Given the description of an element on the screen output the (x, y) to click on. 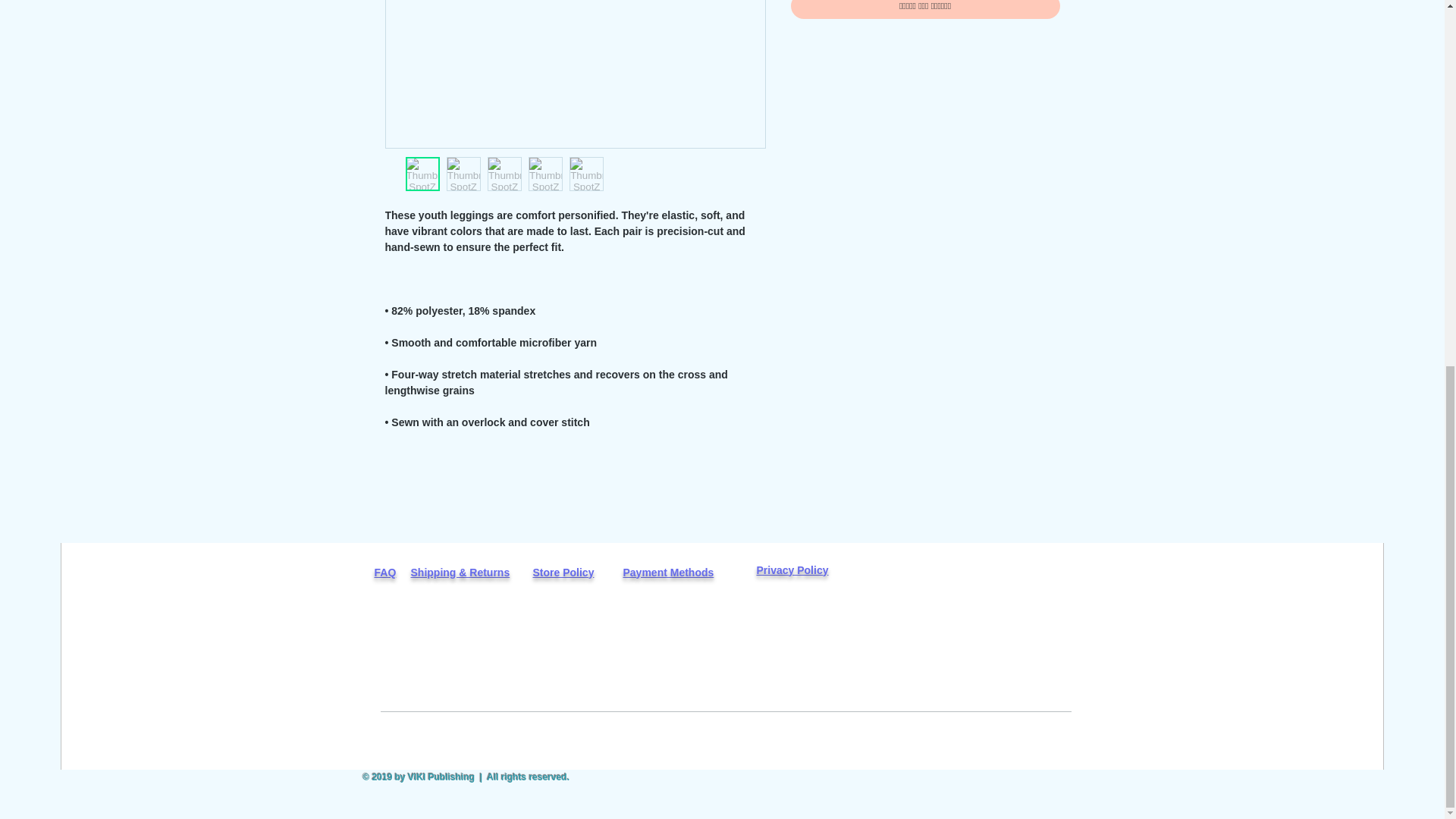
Payment Methods (668, 572)
Store Policy (563, 572)
FAQ (385, 572)
Privacy Policy (792, 569)
